Given the description of an element on the screen output the (x, y) to click on. 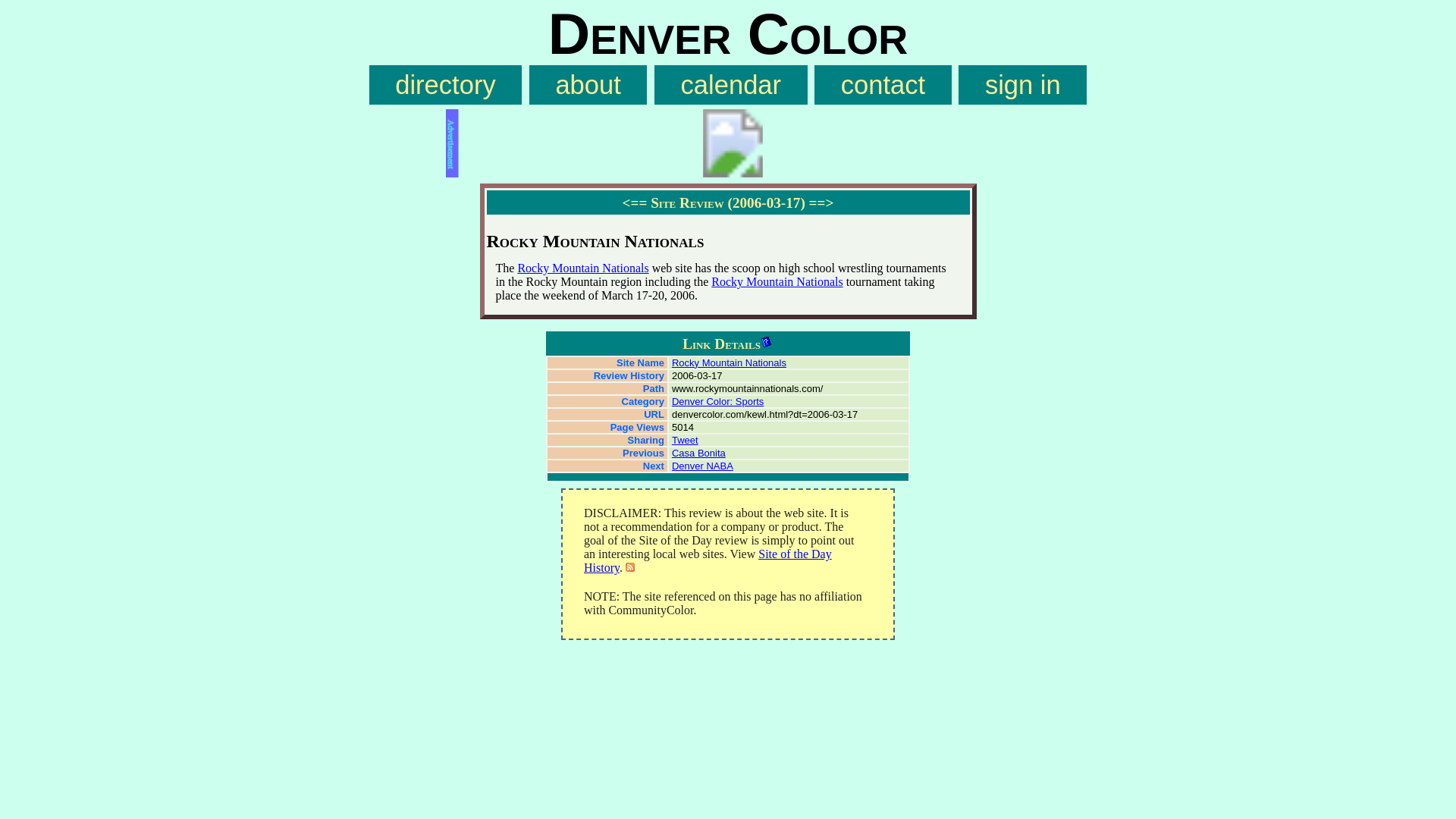
Tweet (684, 439)
previous (635, 202)
Site of the Day History (707, 560)
contact (881, 84)
Rocky Mountain Nationals (581, 267)
Advertisement (727, 142)
Rocky Mountain Nationals (728, 362)
Rocky Mountain Nationals (777, 281)
Casa Bonita (698, 452)
about (588, 84)
directory (445, 84)
sign in (1022, 84)
calendar (730, 84)
Denver Color: Sports (716, 401)
next (821, 202)
